Given the description of an element on the screen output the (x, y) to click on. 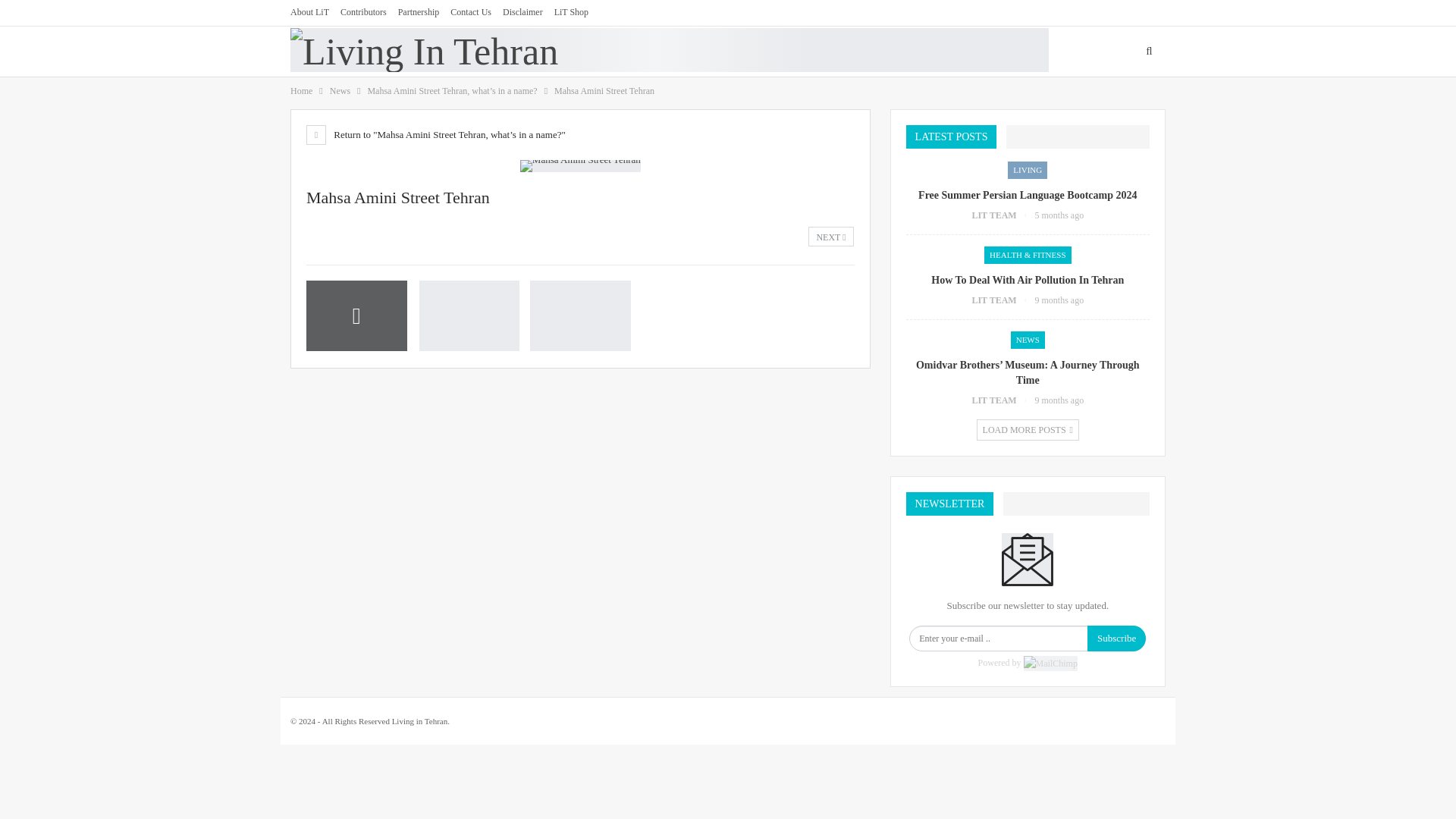
LiT Shop (571, 11)
TRAVEL GUIDE (568, 51)
Mahsa Amini Street Tehran (356, 315)
Partnership (418, 11)
Disclaimer (522, 11)
Mahsa Amini Street Tehran (469, 315)
About LiT (309, 11)
Contributors (363, 11)
LIVING (490, 51)
Contact Us (470, 11)
